Given the description of an element on the screen output the (x, y) to click on. 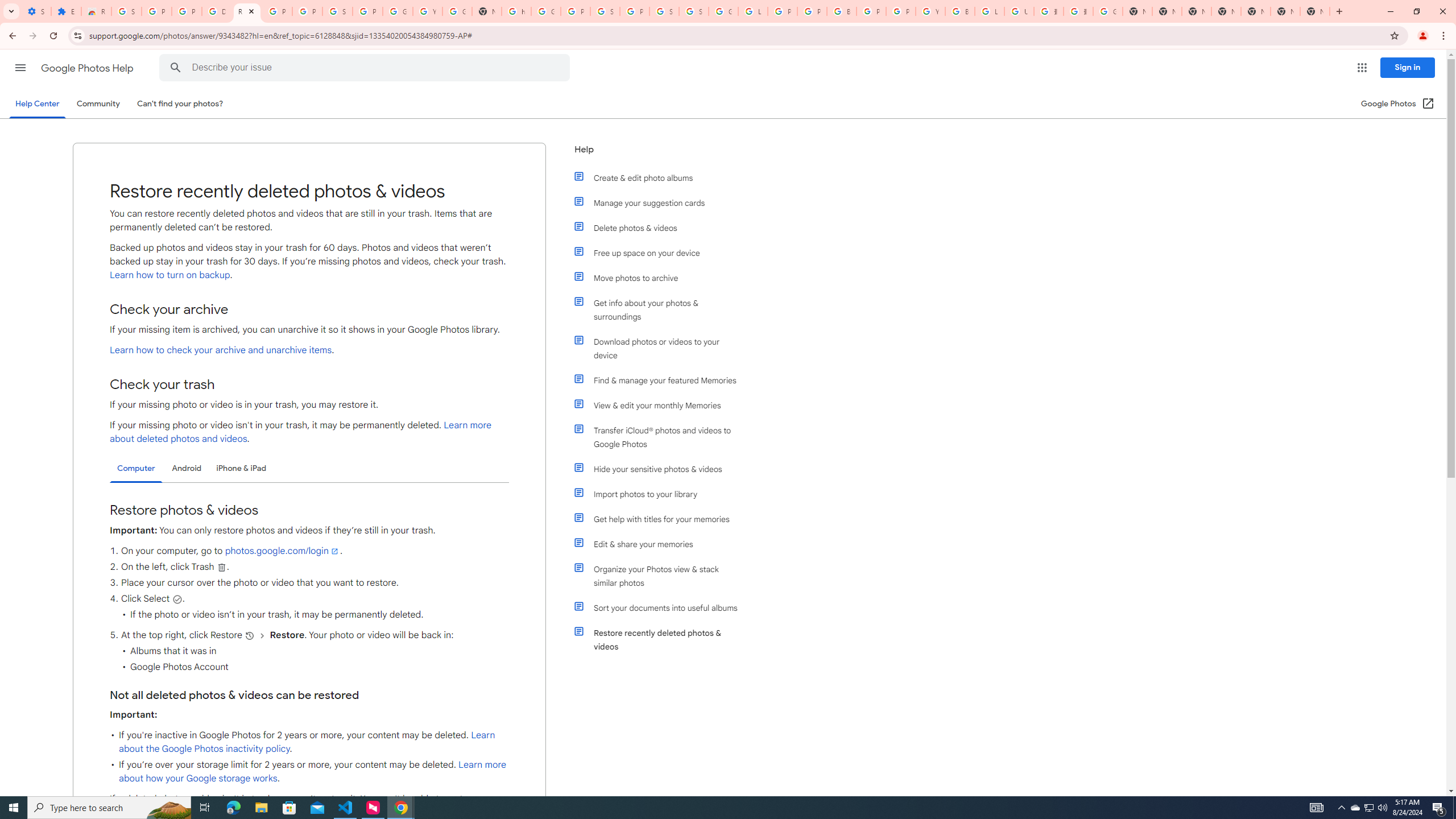
Learn about the Google Photos inactivity policy (307, 742)
Hide your sensitive photos & videos (661, 469)
Google Photos Help (87, 68)
Sort your documents into useful albums (661, 607)
